Given the description of an element on the screen output the (x, y) to click on. 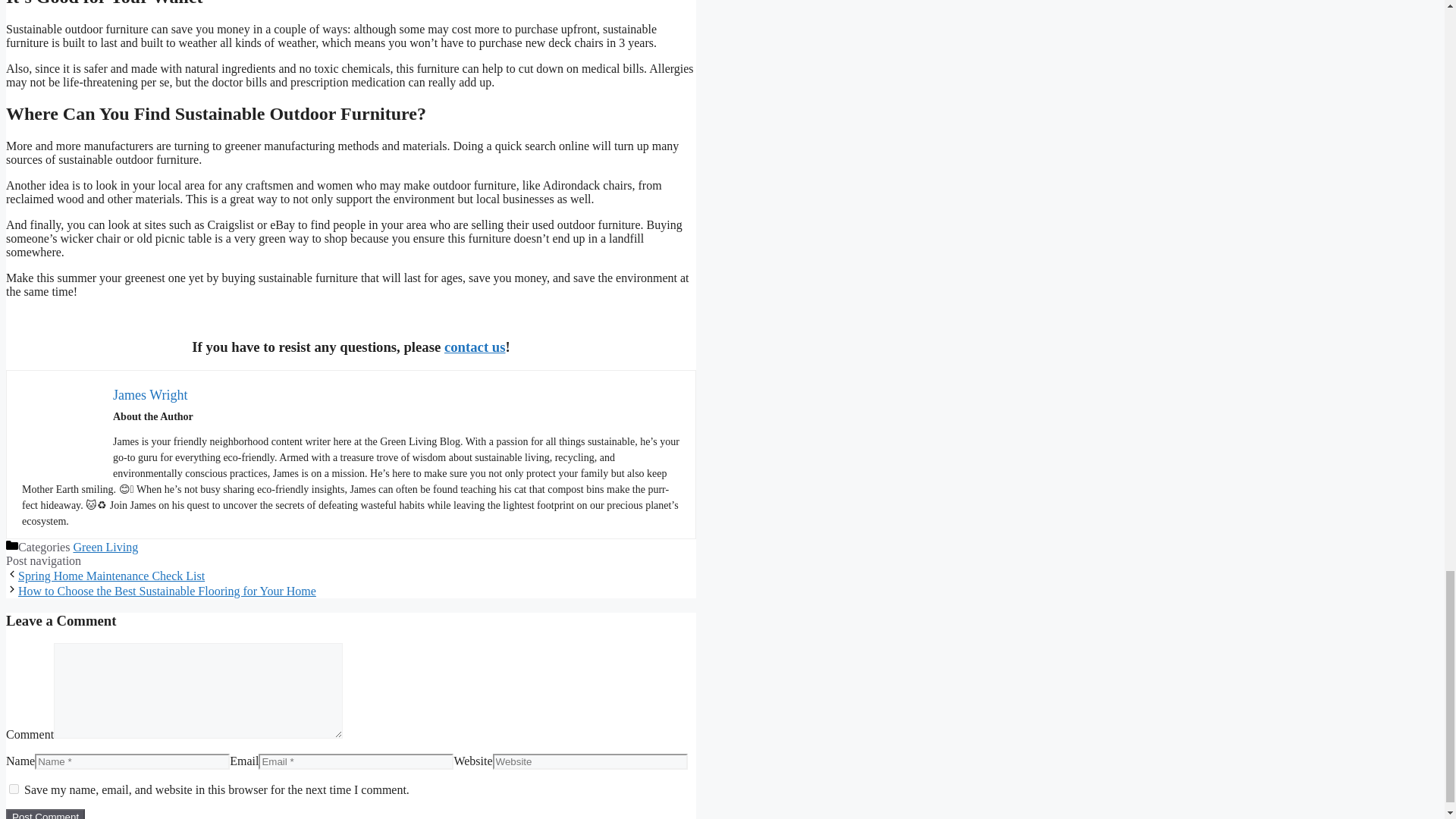
Spring Home Maintenance Check List (111, 575)
contact us (474, 346)
yes (13, 788)
Green Living (105, 546)
Previous (111, 575)
Next (166, 590)
James Wright (150, 394)
How to Choose the Best Sustainable Flooring for Your Home (166, 590)
